Given the description of an element on the screen output the (x, y) to click on. 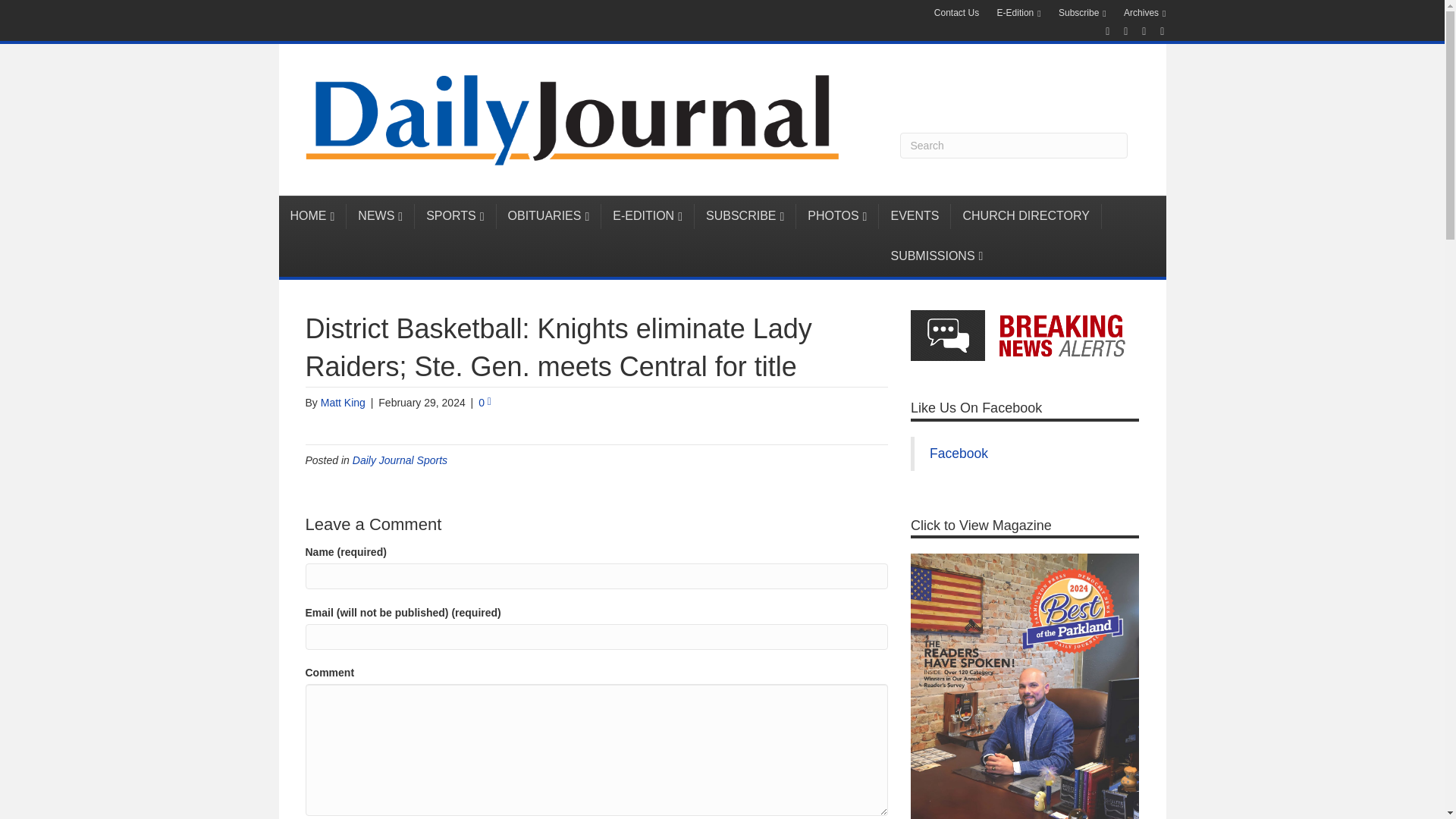
Subscribe (1082, 13)
HOME (313, 216)
Youtube (1135, 30)
NEWS (380, 216)
Twitter (1117, 30)
E-Edition (1019, 13)
Type and press Enter to search. (1012, 145)
Archives (1144, 13)
Email (1154, 30)
Facebook (1099, 30)
Contact Us (956, 13)
